Given the description of an element on the screen output the (x, y) to click on. 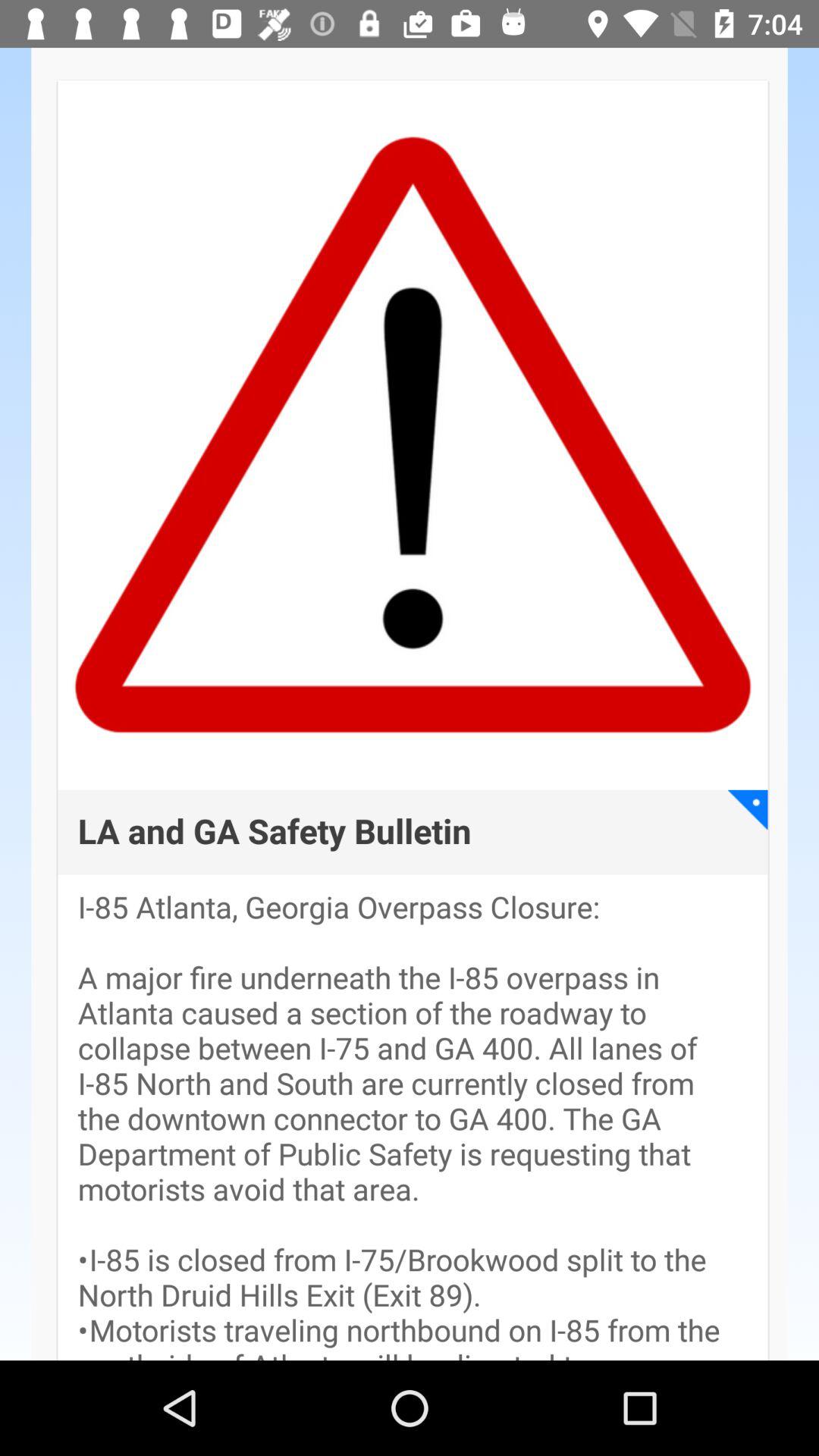
select the icon to the right of la and ga (747, 809)
